Given the description of an element on the screen output the (x, y) to click on. 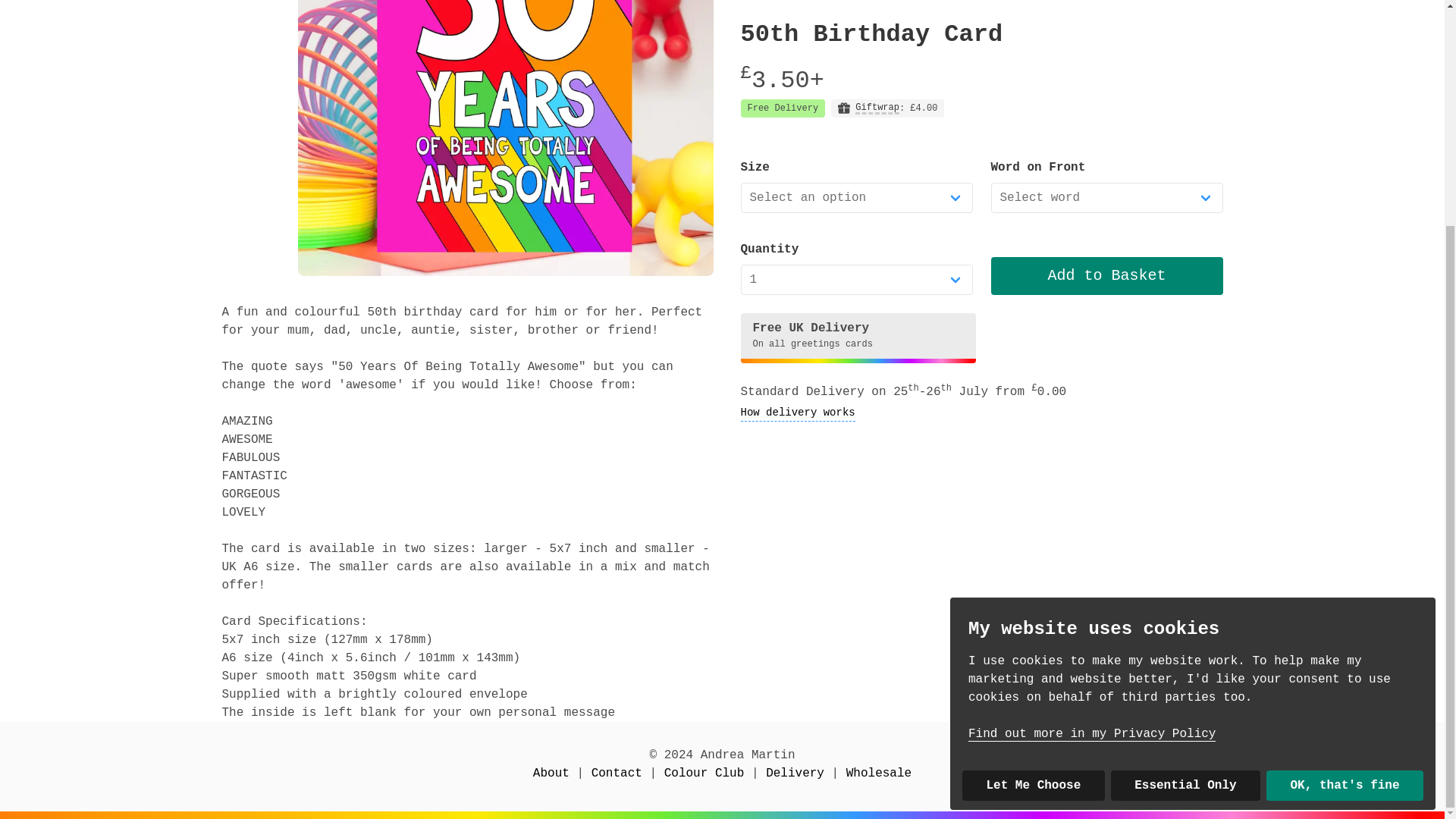
Add to Basket (1106, 127)
